Given the description of an element on the screen output the (x, y) to click on. 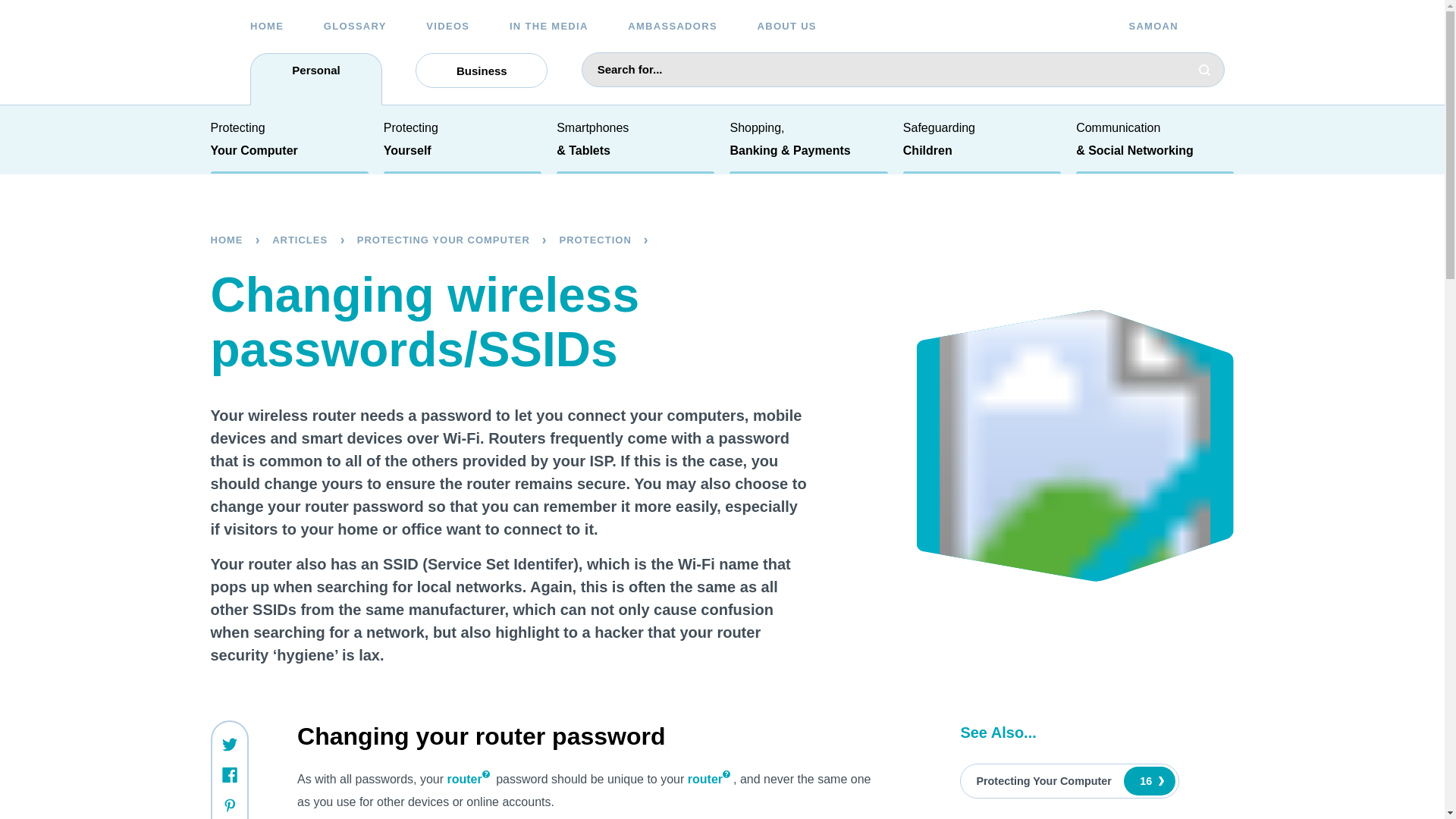
Search (1214, 792)
Business (480, 70)
Personal (315, 79)
Search (1205, 69)
Search (1205, 69)
